Given the description of an element on the screen output the (x, y) to click on. 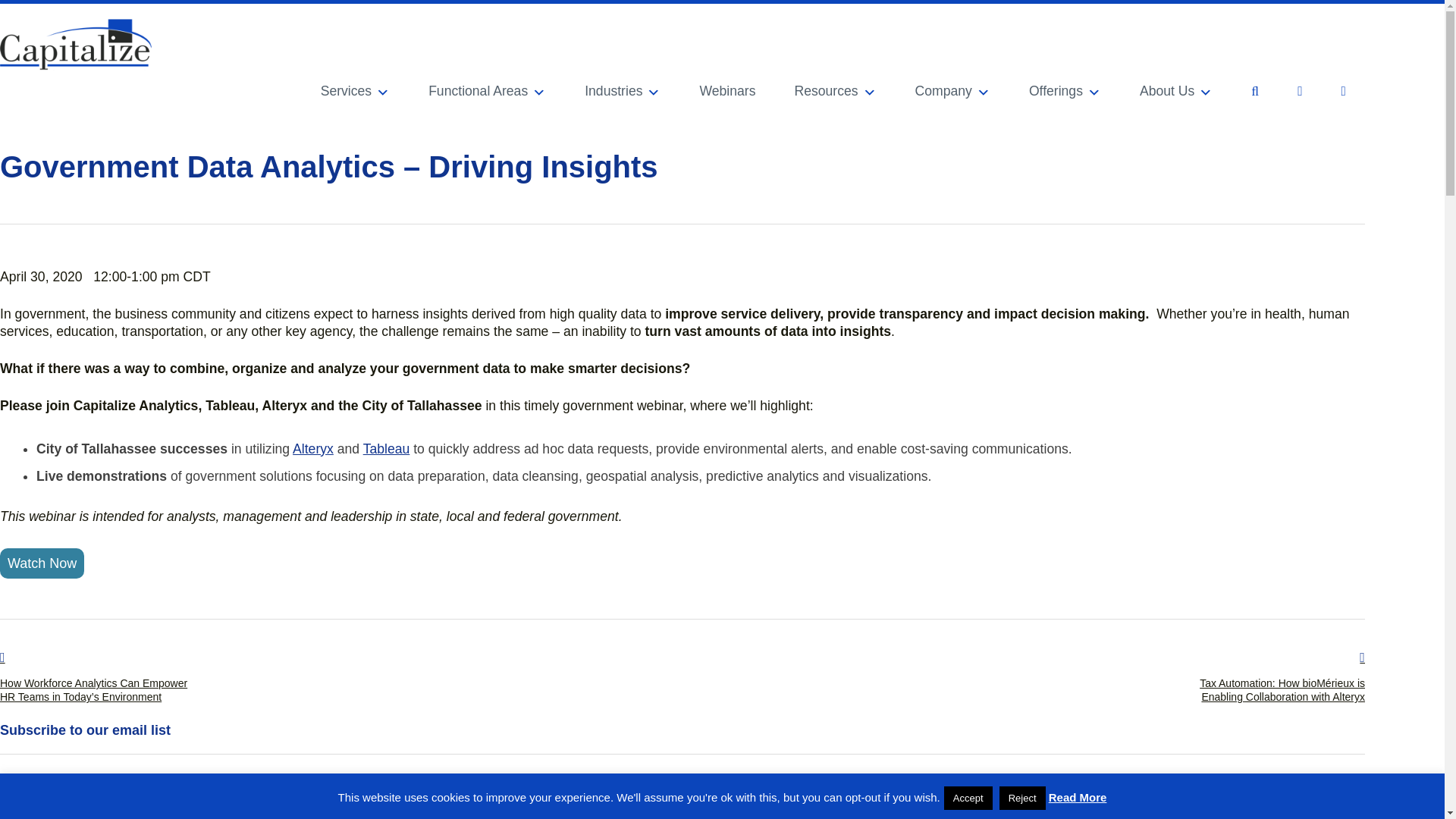
Functional Areas (487, 94)
Services (355, 94)
